Given the description of an element on the screen output the (x, y) to click on. 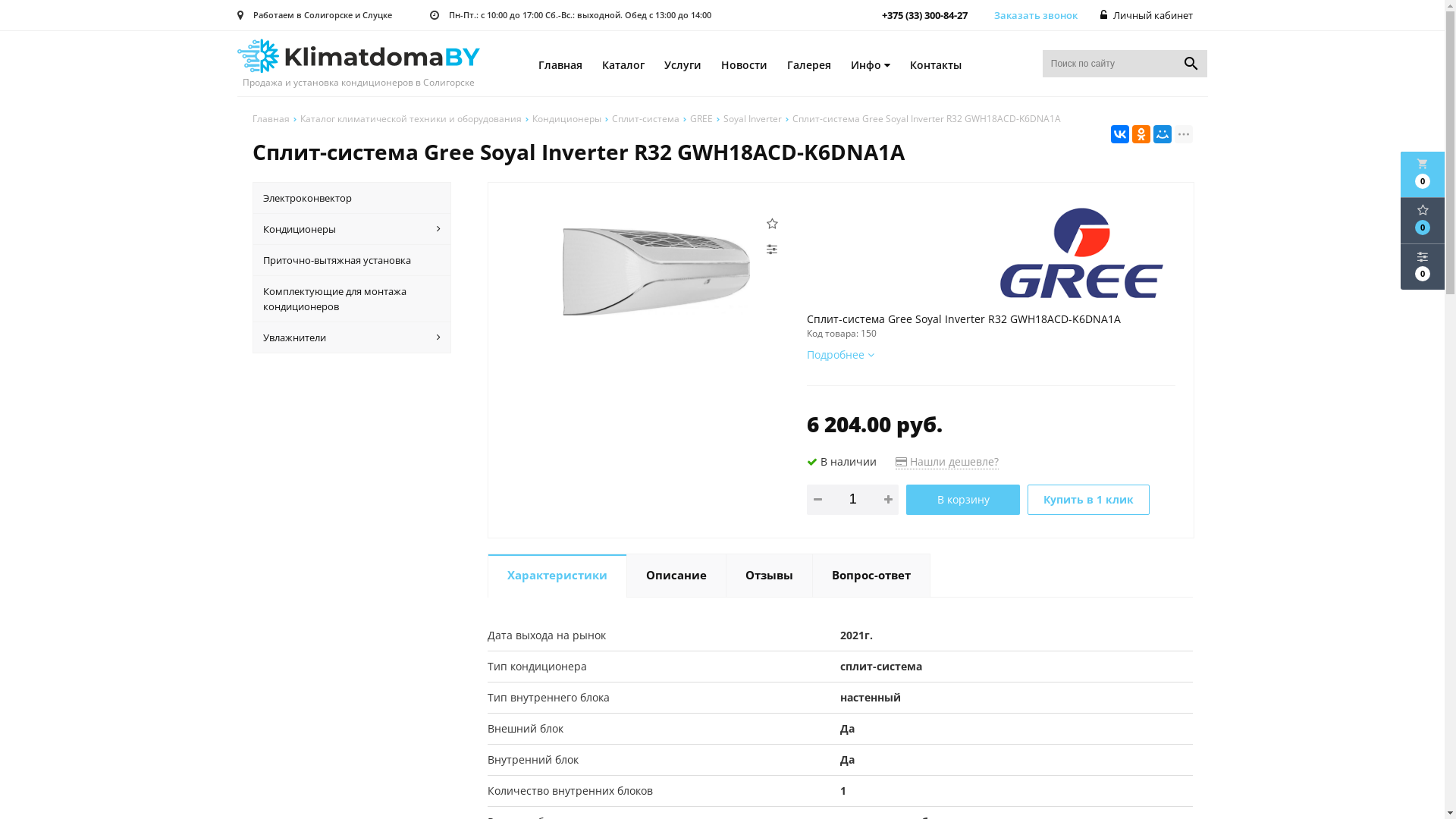
0 Element type: text (1422, 220)
GREE Element type: text (701, 118)
+375 (33) 300-84-27 Element type: text (925, 15)
search Element type: text (1191, 63)
0 Element type: text (1422, 266)
local_grocery_store
0 Element type: text (1422, 174)
Soyal Inverter Element type: text (752, 118)
